Given the description of an element on the screen output the (x, y) to click on. 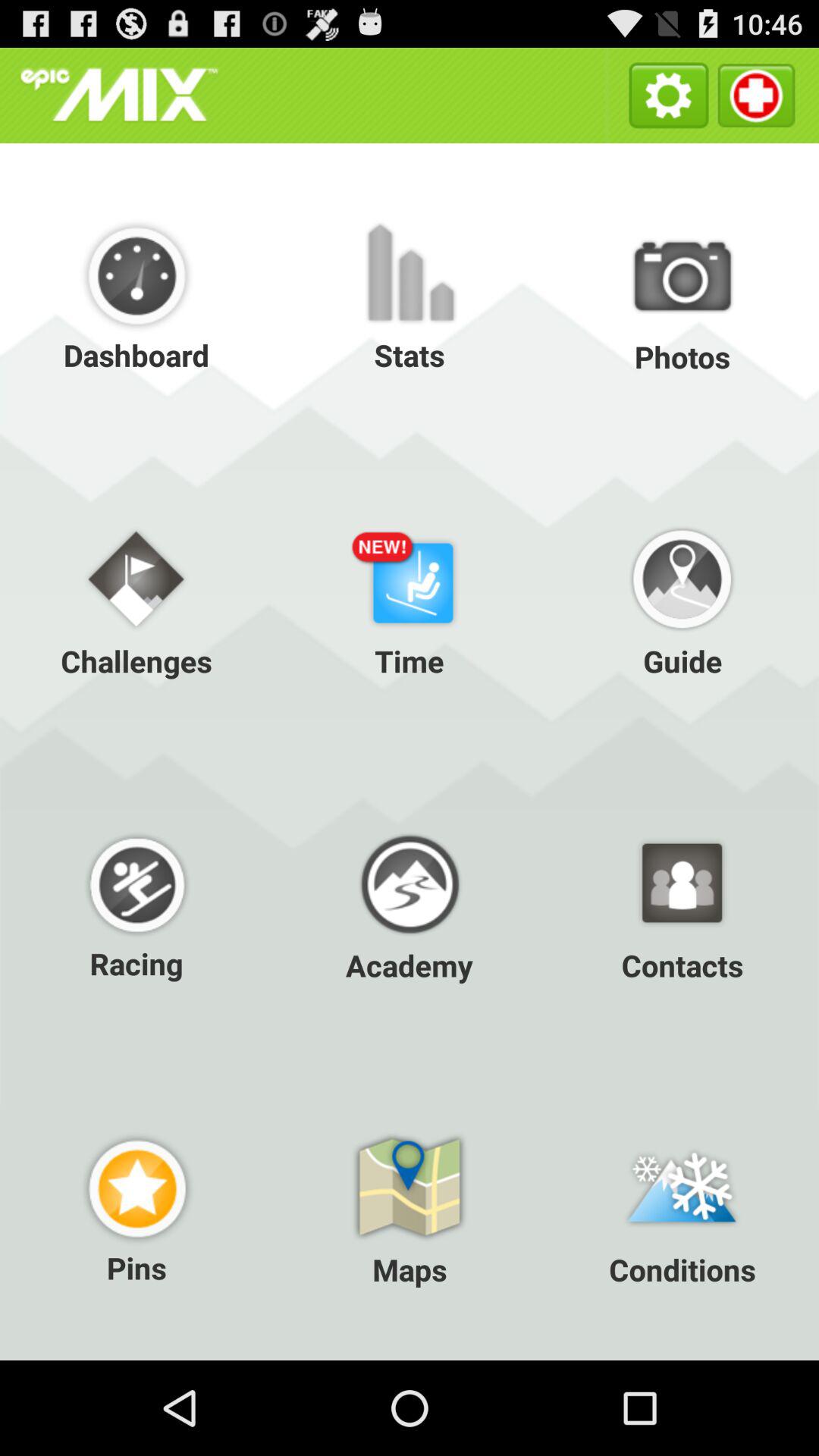
tap the button to the right of challenges button (409, 599)
